Given the description of an element on the screen output the (x, y) to click on. 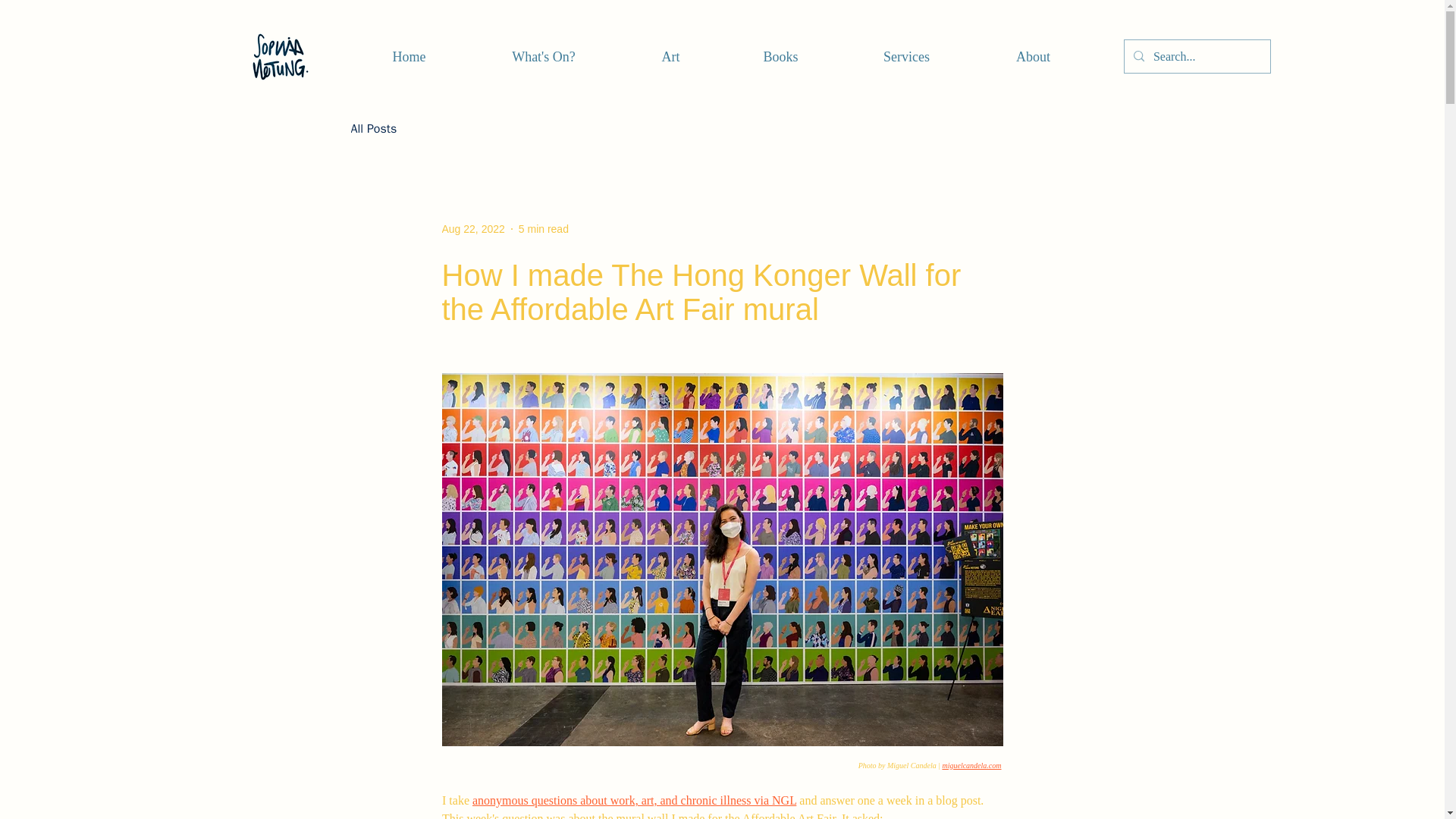
Aug 22, 2022 (472, 228)
All Posts (373, 129)
miguelcandela.com (971, 763)
5 min read (543, 228)
Home (408, 56)
Books (781, 56)
